Given the description of an element on the screen output the (x, y) to click on. 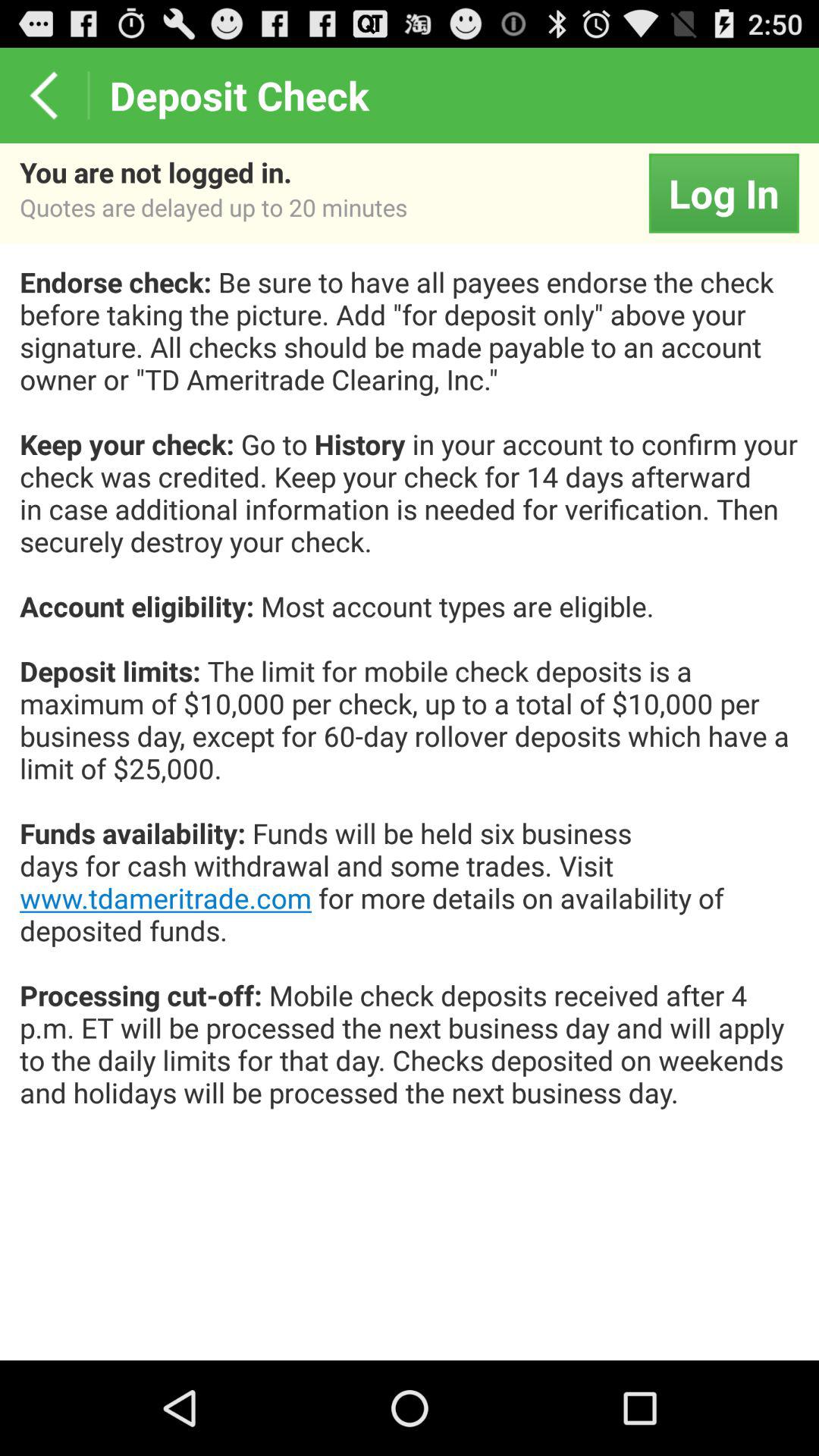
choose the icon next to the deposit check (43, 95)
